Given the description of an element on the screen output the (x, y) to click on. 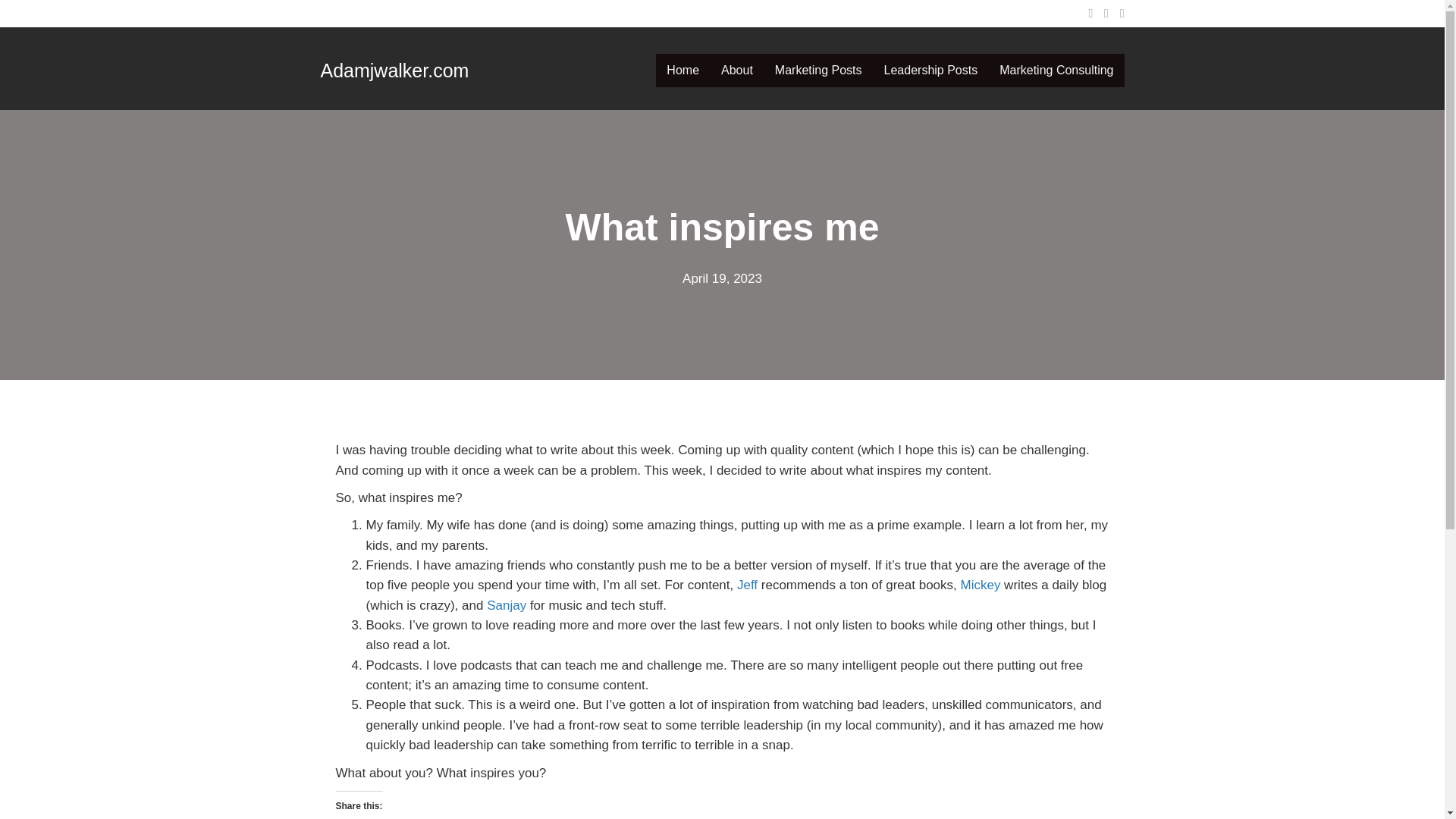
Home (683, 70)
Adamjwalker.com (394, 69)
Marketing Consulting (1056, 70)
About (736, 70)
Sanjay (505, 605)
Marketing Posts (818, 70)
Leadership Posts (930, 70)
Mickey (979, 585)
Jeff (746, 585)
Adamjwalker.com (394, 69)
